Given the description of an element on the screen output the (x, y) to click on. 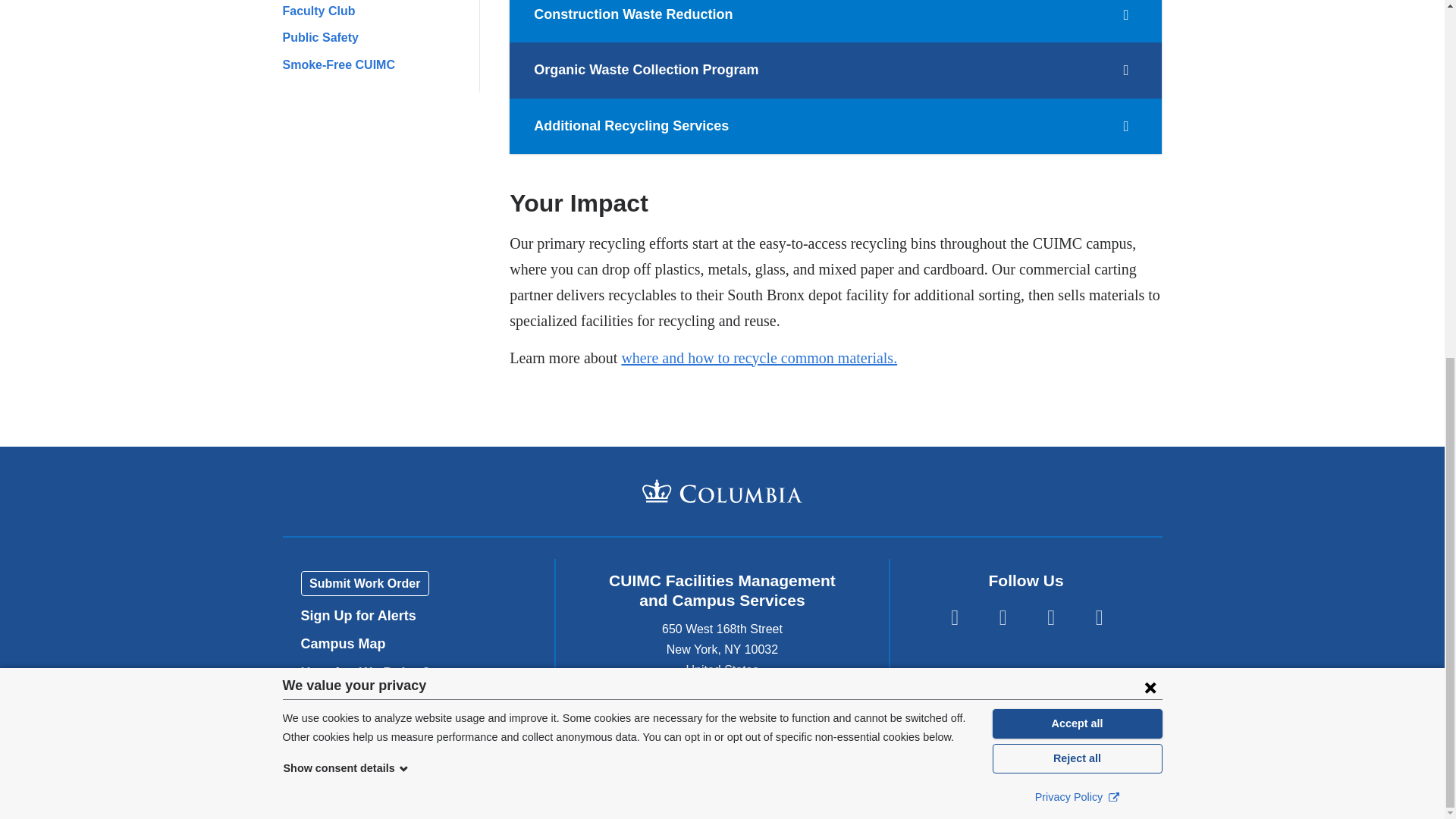
External link Opens in a new window (1113, 165)
Reject all (1076, 127)
Privacy Policy External link Opens in a new window (1076, 167)
Accept all (1076, 92)
Show consent details (346, 137)
